Given the description of an element on the screen output the (x, y) to click on. 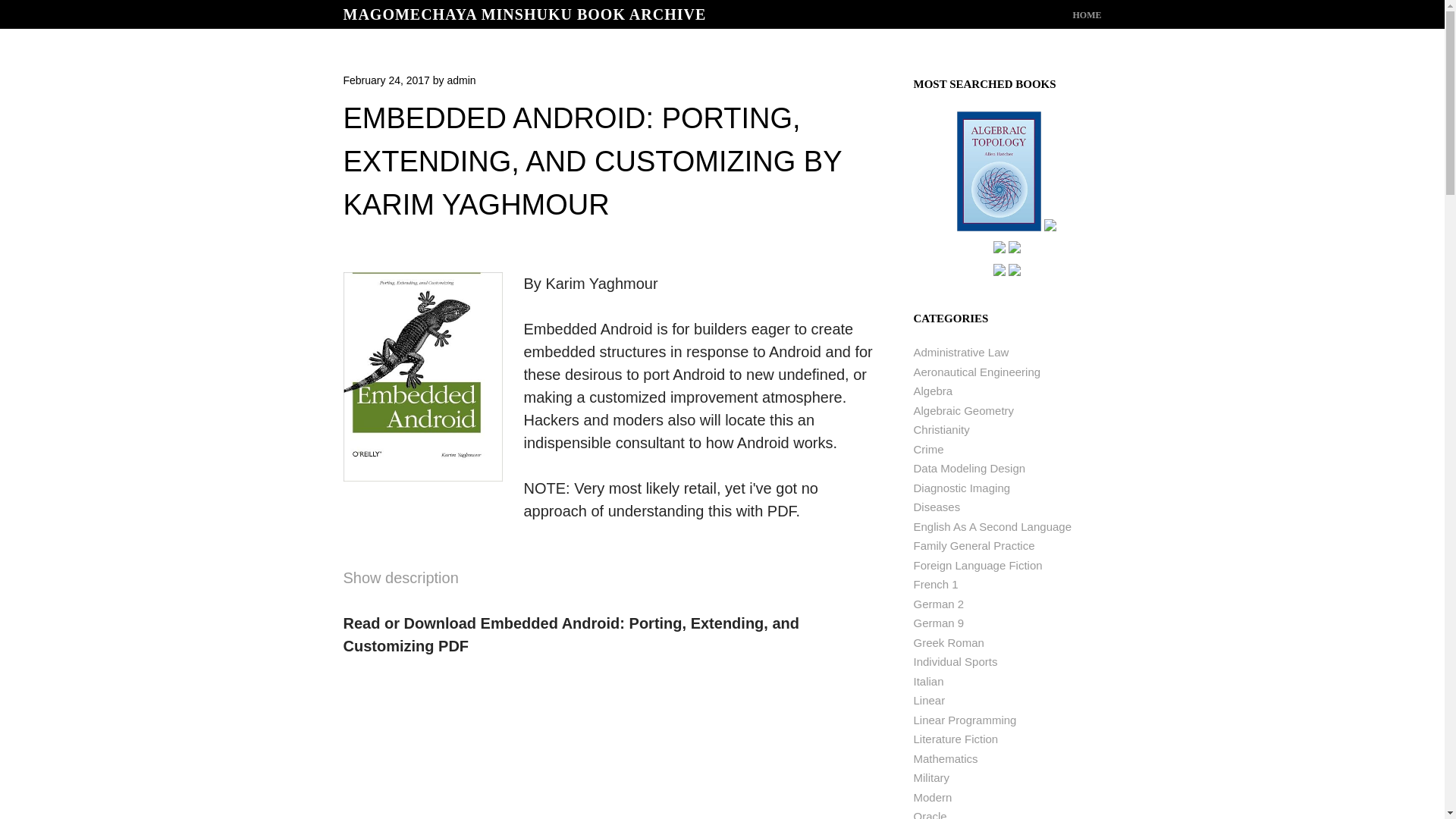
Crime (927, 449)
View all posts by admin (461, 80)
MAGOMECHAYA MINSHUKU Book Archive (524, 13)
admin (461, 80)
Data Modeling Design (968, 468)
Show description (400, 577)
February 24, 2017 (385, 80)
Aeronautical Engineering (976, 371)
7:49 pm (385, 80)
Diseases (935, 506)
Algebraic topology by Edwin H. Spanier (998, 228)
MAGOMECHAYA MINSHUKU BOOK ARCHIVE (524, 13)
Algebra (932, 390)
Mehrfach-Telegraphen by August Kraatz (1014, 250)
HOME (1085, 14)
